Given the description of an element on the screen output the (x, y) to click on. 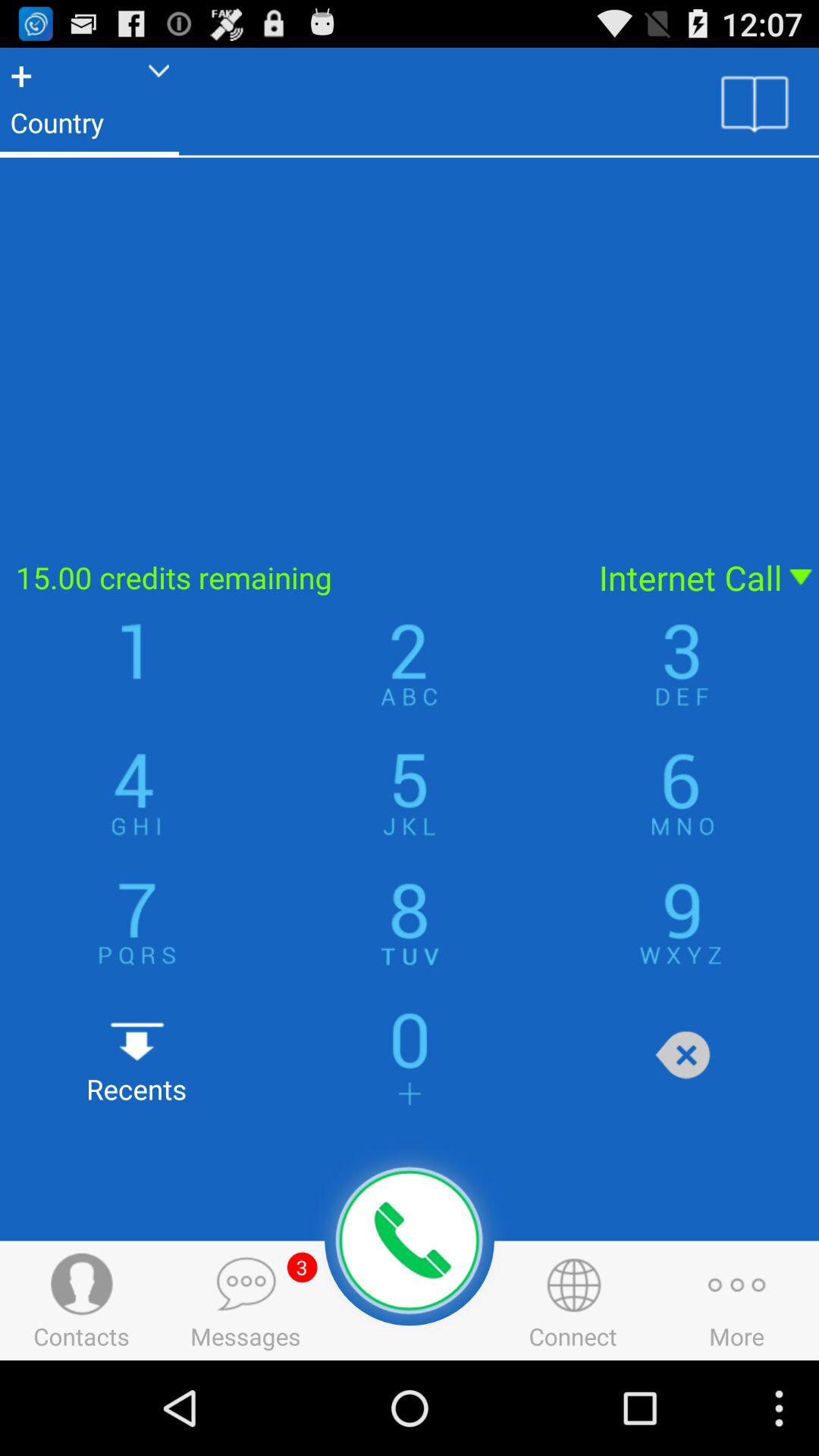
address book (755, 102)
